Given the description of an element on the screen output the (x, y) to click on. 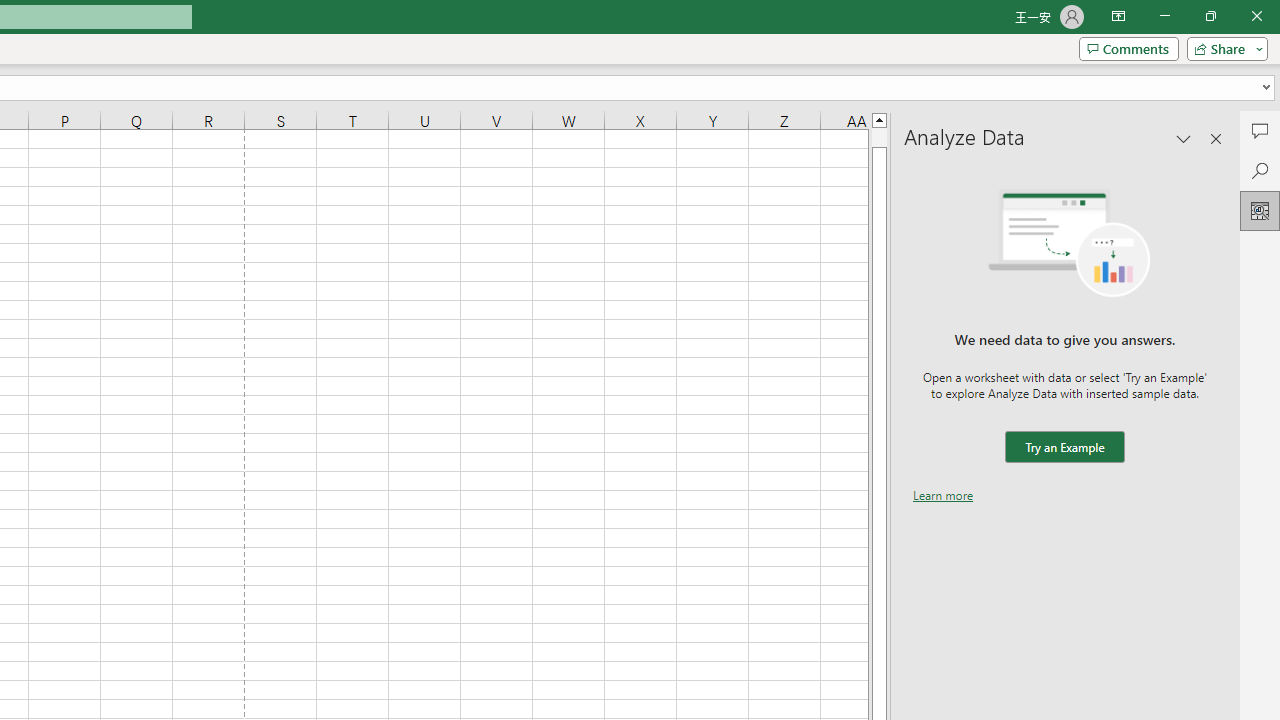
Page up (879, 137)
We need data to give you answers. Try an Example (1064, 447)
Learn more (943, 494)
